Given the description of an element on the screen output the (x, y) to click on. 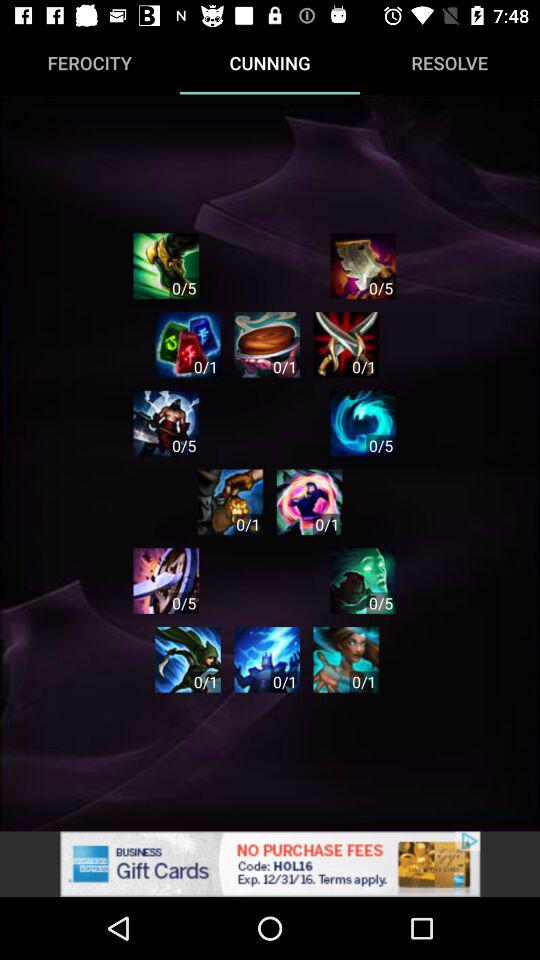
cunning (187, 659)
